Given the description of an element on the screen output the (x, y) to click on. 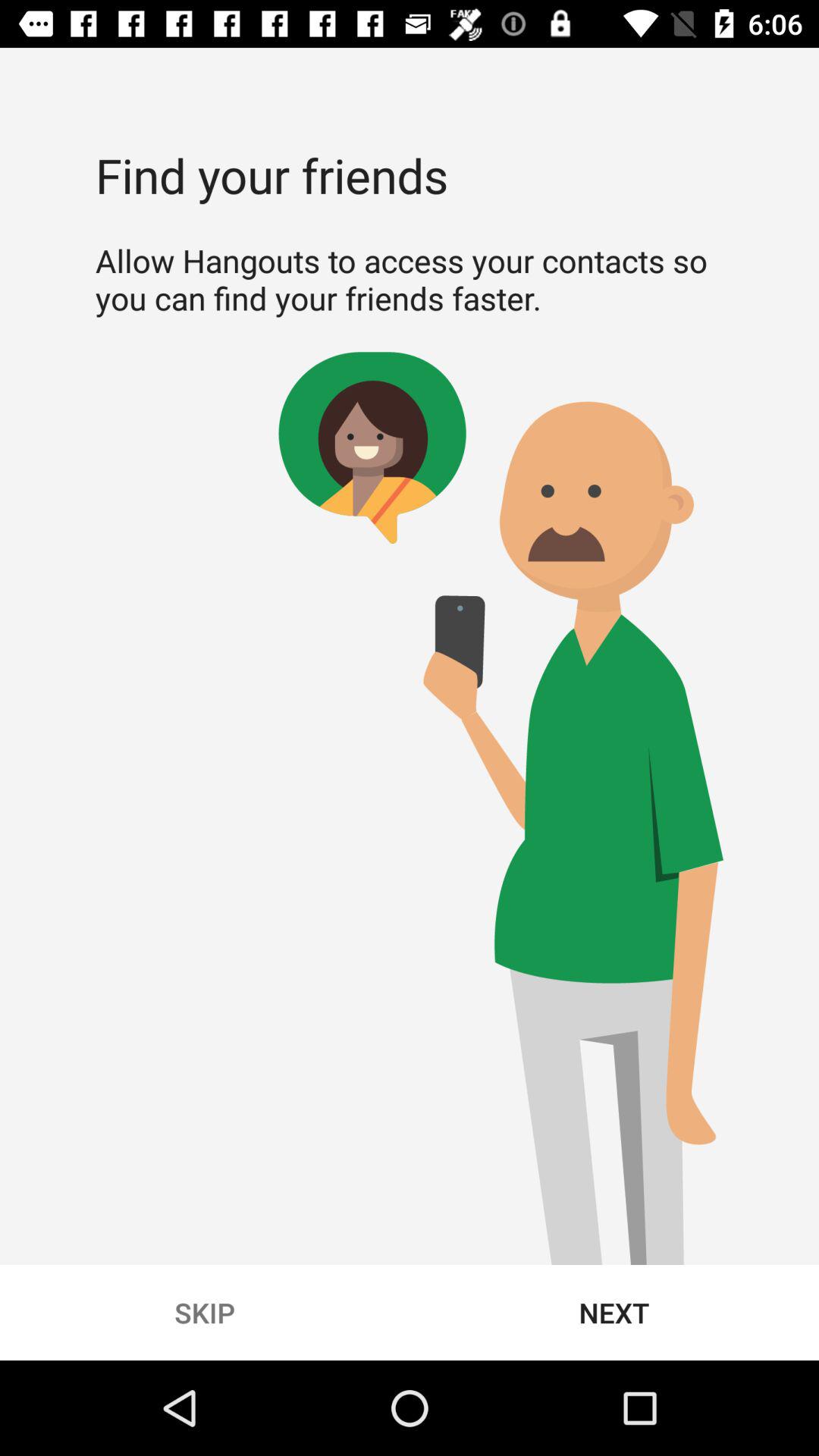
click icon at the bottom left corner (204, 1312)
